Given the description of an element on the screen output the (x, y) to click on. 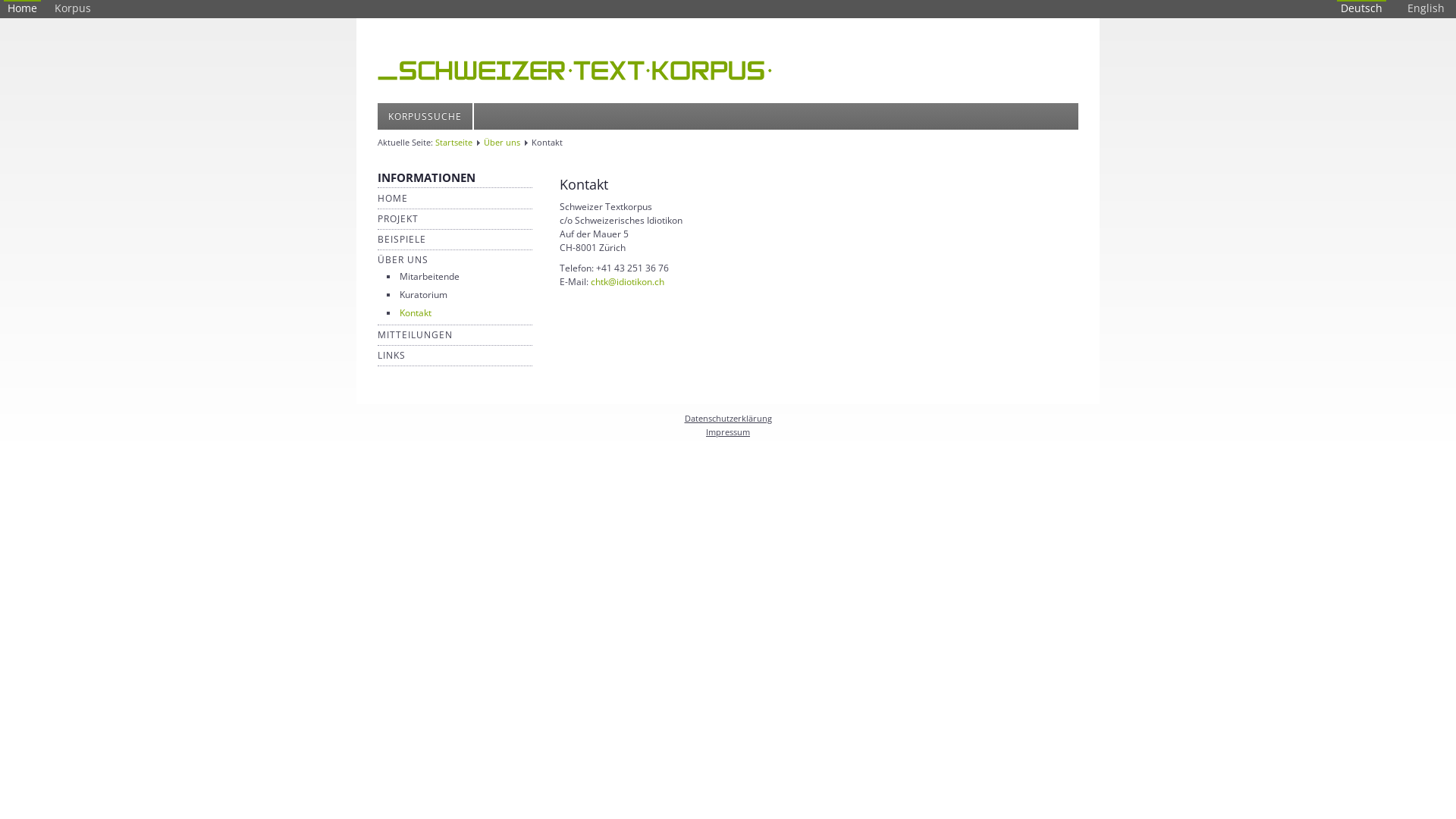
Kontakt Element type: text (415, 312)
Startseite Element type: text (453, 141)
Impressum Element type: text (727, 432)
HOME Element type: text (392, 197)
Deutsch Element type: text (1361, 7)
KORPUSSUCHE Element type: text (425, 116)
BEISPIELE Element type: text (401, 238)
Korpus Element type: text (72, 7)
Mitarbeitende Element type: text (429, 275)
PROJEKT Element type: text (397, 218)
chtk@idiotikon.ch Element type: text (627, 281)
Home Element type: text (21, 7)
MITTEILUNGEN Element type: text (414, 334)
Kontakt Element type: text (583, 184)
Kuratorium Element type: text (423, 294)
LINKS Element type: text (391, 354)
English Element type: text (1425, 7)
